Given the description of an element on the screen output the (x, y) to click on. 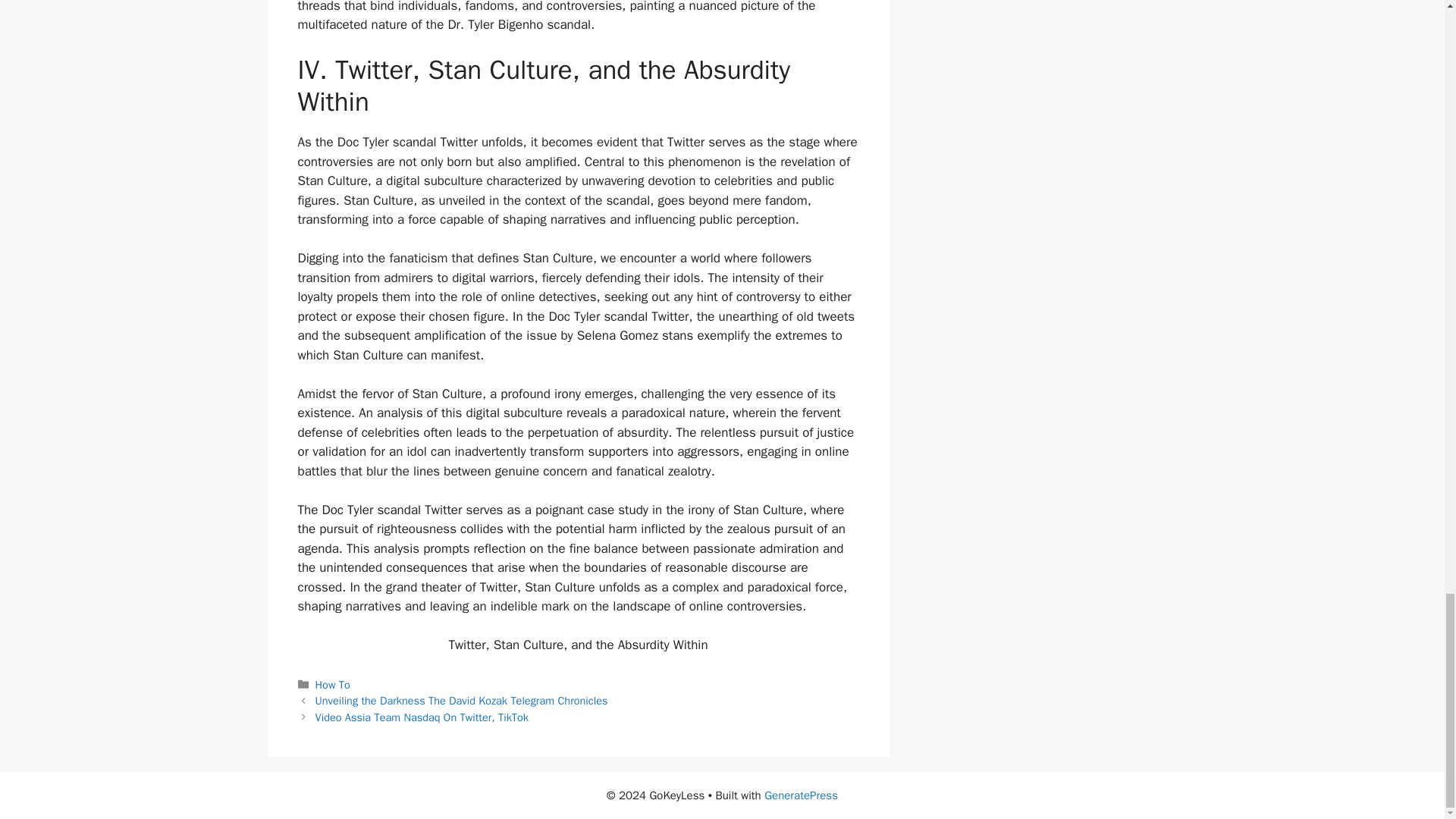
Unveiling the Darkness The David Kozak Telegram Chronicles (461, 700)
GeneratePress (801, 795)
How To (332, 684)
Video Assia Team Nasdaq On Twitter, TikTok (421, 716)
